Given the description of an element on the screen output the (x, y) to click on. 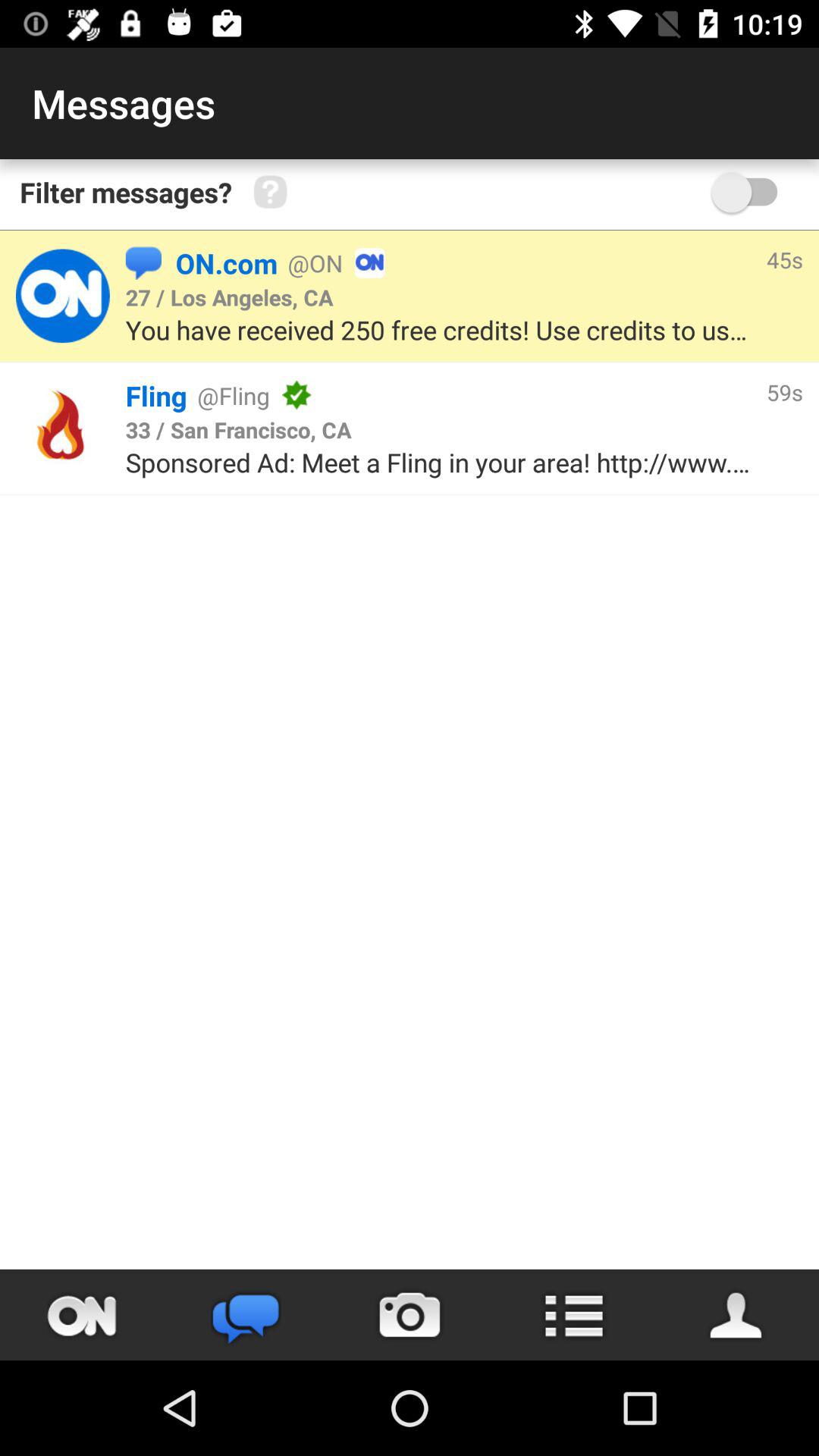
go to on (81, 1315)
